Given the description of an element on the screen output the (x, y) to click on. 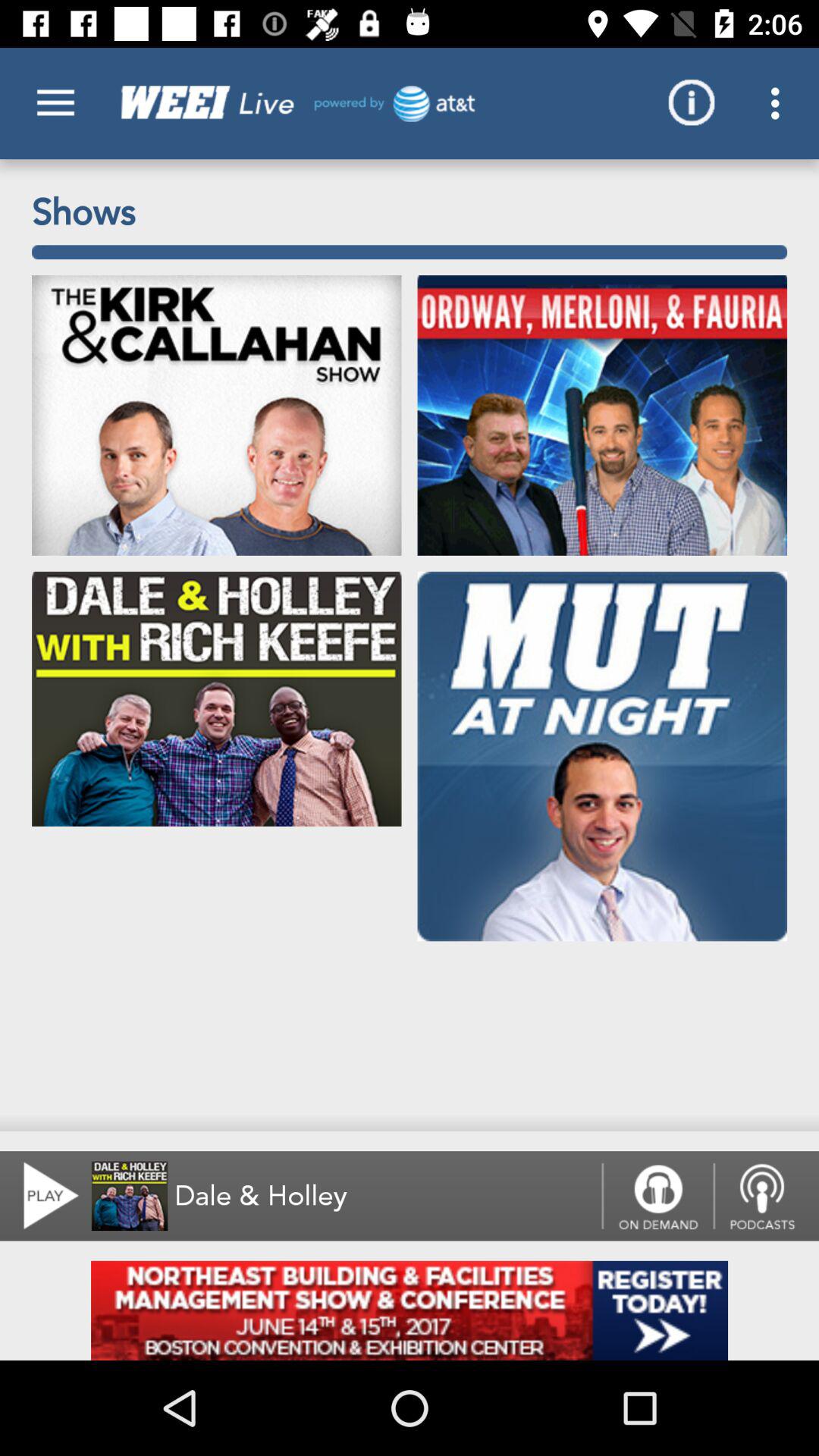
go to page (409, 1310)
